Given the description of an element on the screen output the (x, y) to click on. 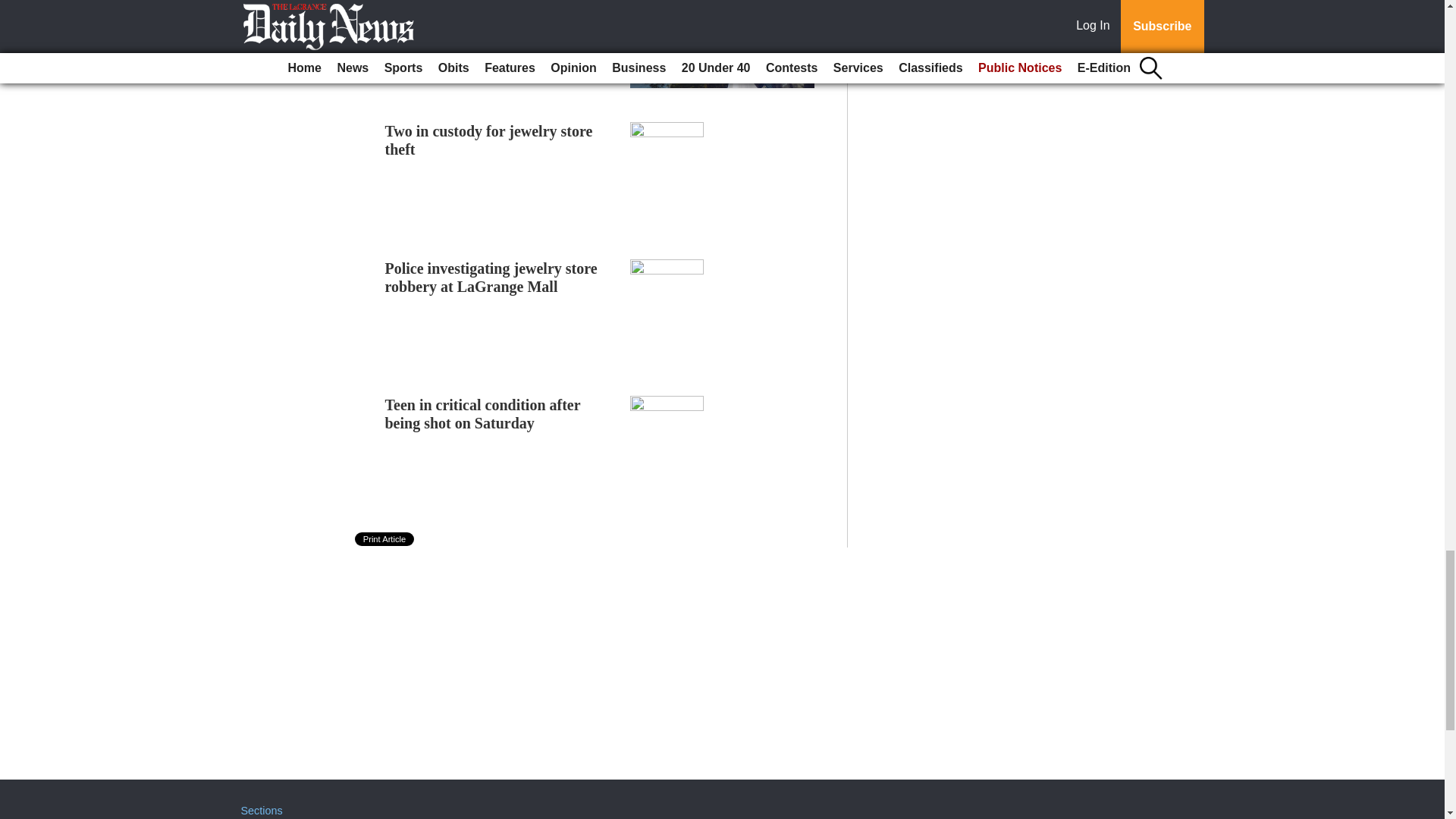
Teen in critical condition after being shot on Saturday (482, 413)
Two in custody for jewelry store theft (488, 140)
Print Article (384, 539)
Teen in critical condition after being shot on Saturday (482, 413)
Woman in critical condition after shooting in Manchester (492, 10)
Police investigating jewelry store robbery at LaGrange Mall (490, 276)
Police investigating jewelry store robbery at LaGrange Mall (490, 276)
Woman in critical condition after shooting in Manchester (492, 10)
Two in custody for jewelry store theft (488, 140)
